Given the description of an element on the screen output the (x, y) to click on. 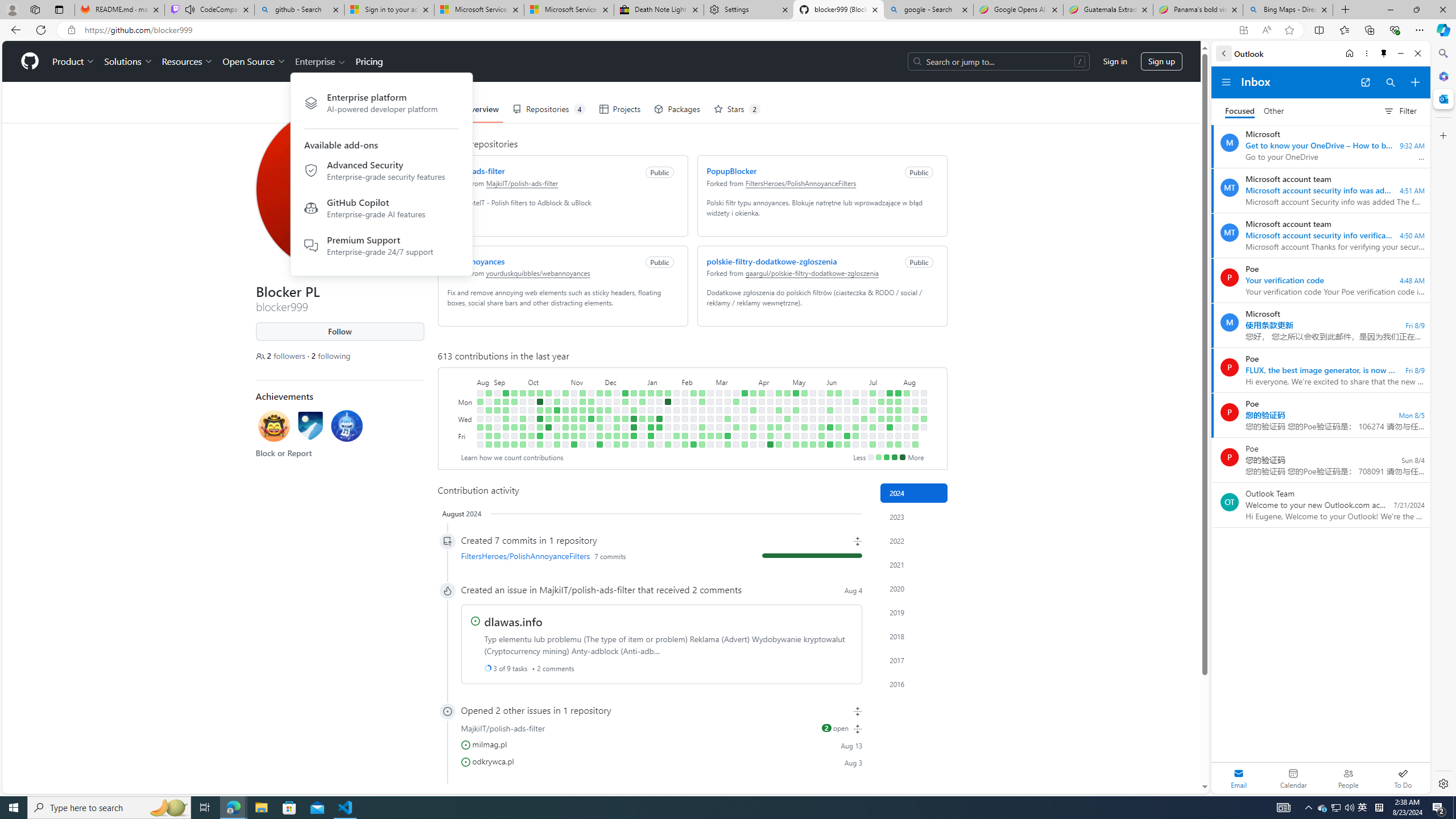
Resources (187, 60)
6 contributions on October 13th. (539, 435)
No contributions on March 22nd. (735, 435)
1 contribution on July 23rd. (889, 410)
No contributions on July 10th. (872, 418)
No contributions on January 24th. (667, 418)
1 contribution on December 5th. (607, 410)
Open Source (254, 60)
3 contributions on August 4th. (906, 392)
2 following (330, 355)
No contributions on December 12th. (616, 410)
View blocker999's full-sized avatar (338, 188)
2016 (913, 683)
Refresh (40, 29)
1 contribution on June 24th. (855, 401)
